Given the description of an element on the screen output the (x, y) to click on. 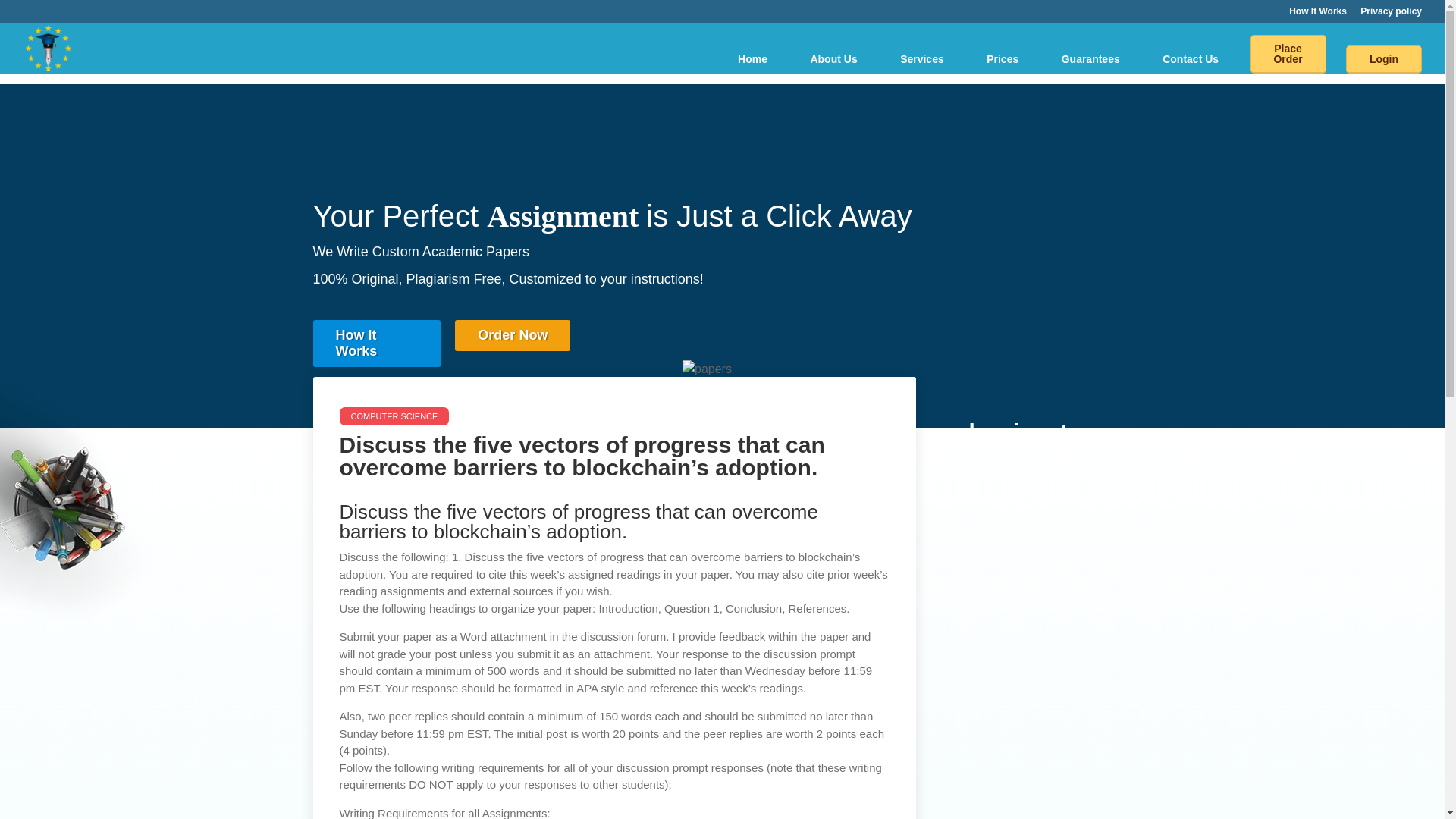
Services (921, 58)
Privacy policy (1390, 14)
How It Works (1317, 14)
Guarantees (1090, 58)
How It Works (376, 343)
COMPUTER SCIENCE (394, 416)
Place Order (1288, 54)
About Us (832, 58)
Order Now (512, 335)
Prices (1002, 58)
Login (1383, 59)
COMPUTER SCIENCE (721, 500)
Contact Us (1190, 58)
Home (752, 58)
